Given the description of an element on the screen output the (x, y) to click on. 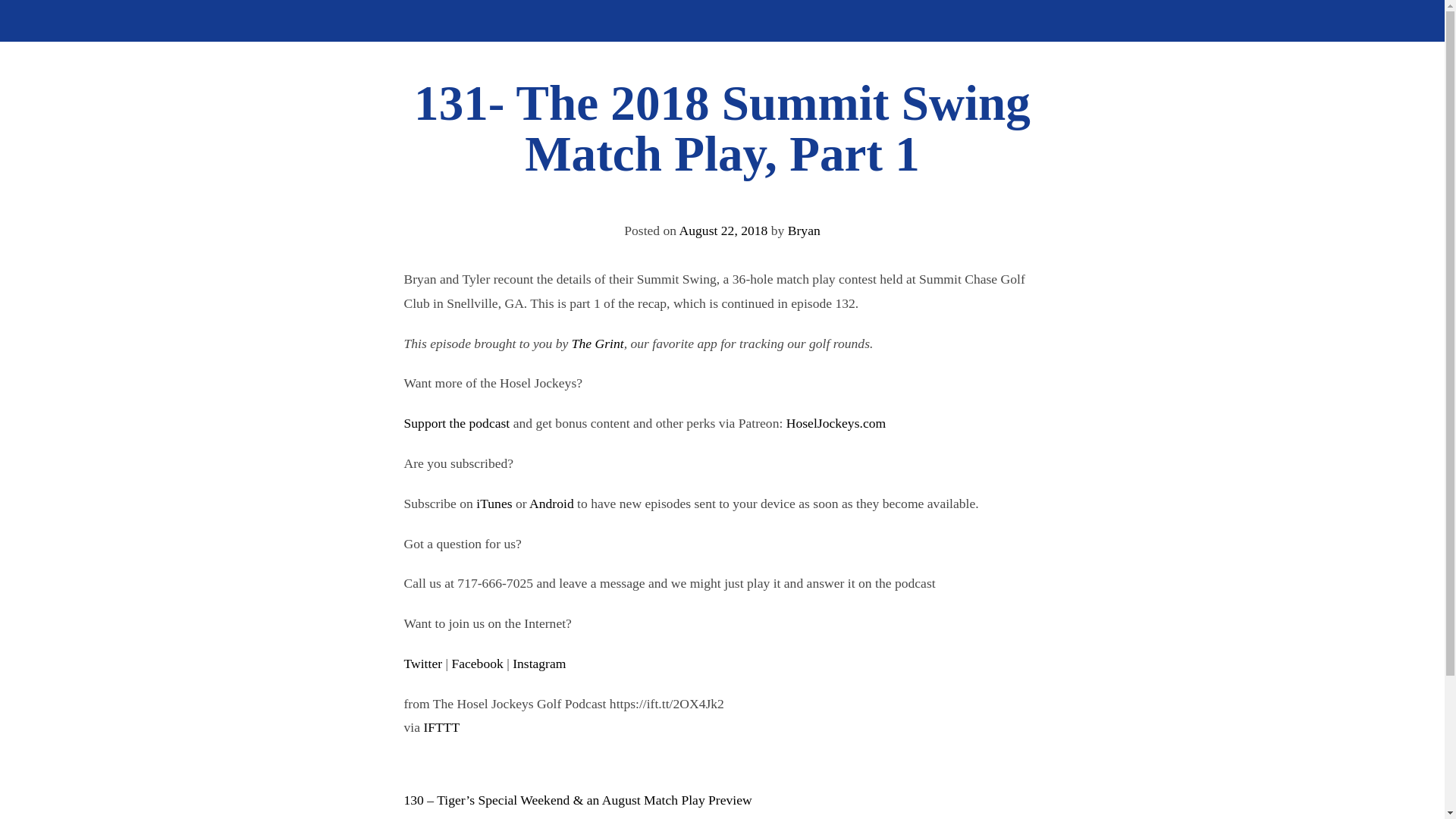
IFTTT (441, 726)
iTunes (494, 503)
HoselJockeys.com (835, 422)
Instagram (539, 663)
Bryan (804, 230)
August 22, 2018 (723, 230)
Support the podcast (456, 422)
The Grint (598, 343)
Twitter (422, 663)
Facebook (476, 663)
